Given the description of an element on the screen output the (x, y) to click on. 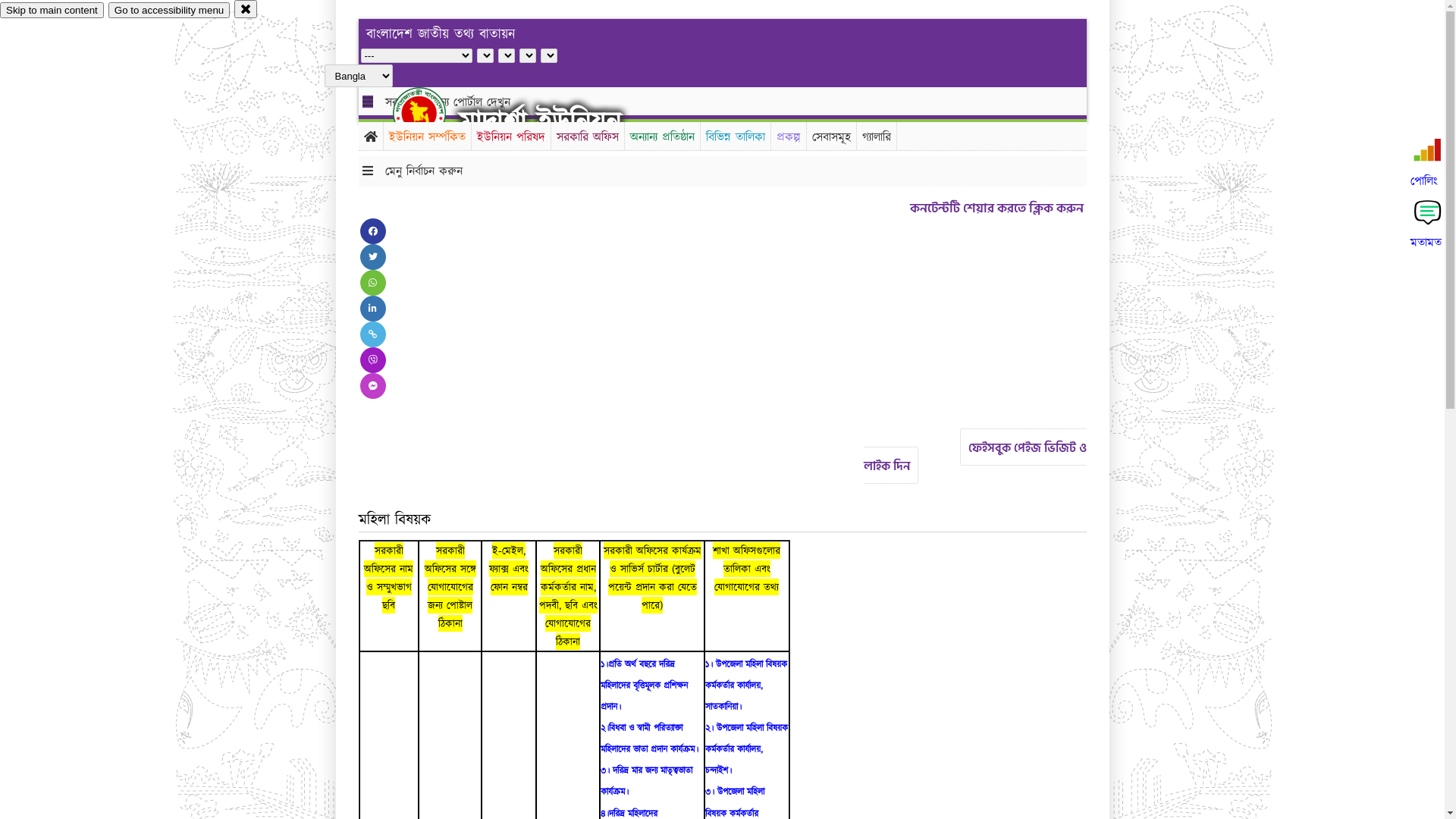
close Element type: hover (245, 9)
Skip to main content Element type: text (51, 10)
Go to accessibility menu Element type: text (168, 10)

                
             Element type: hover (431, 112)
